Given the description of an element on the screen output the (x, y) to click on. 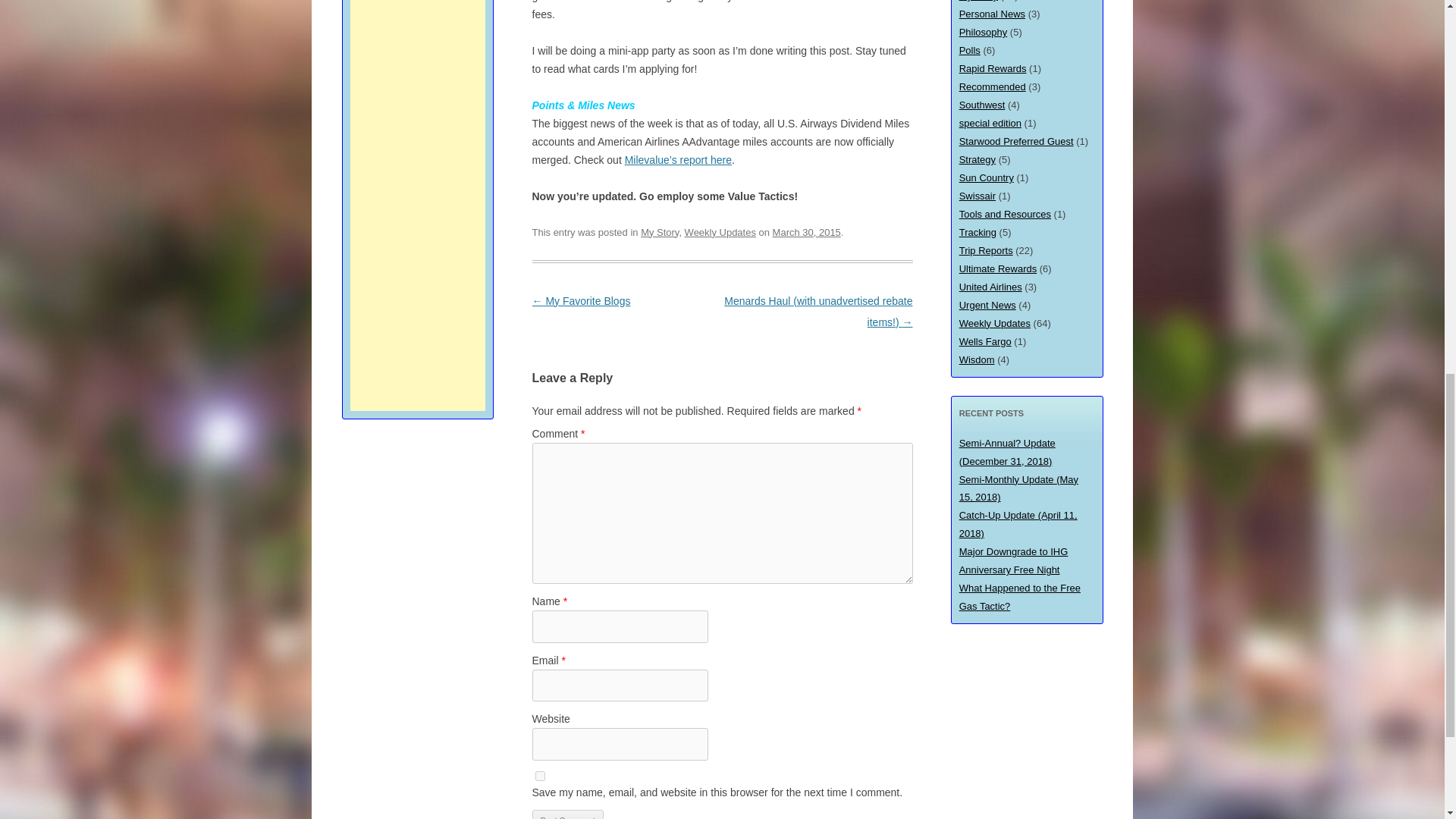
Post Comment (568, 814)
22:52 (807, 232)
March 30, 2015 (807, 232)
Weekly Updates (719, 232)
My Story (659, 232)
yes (539, 776)
Post Comment (568, 814)
